Given the description of an element on the screen output the (x, y) to click on. 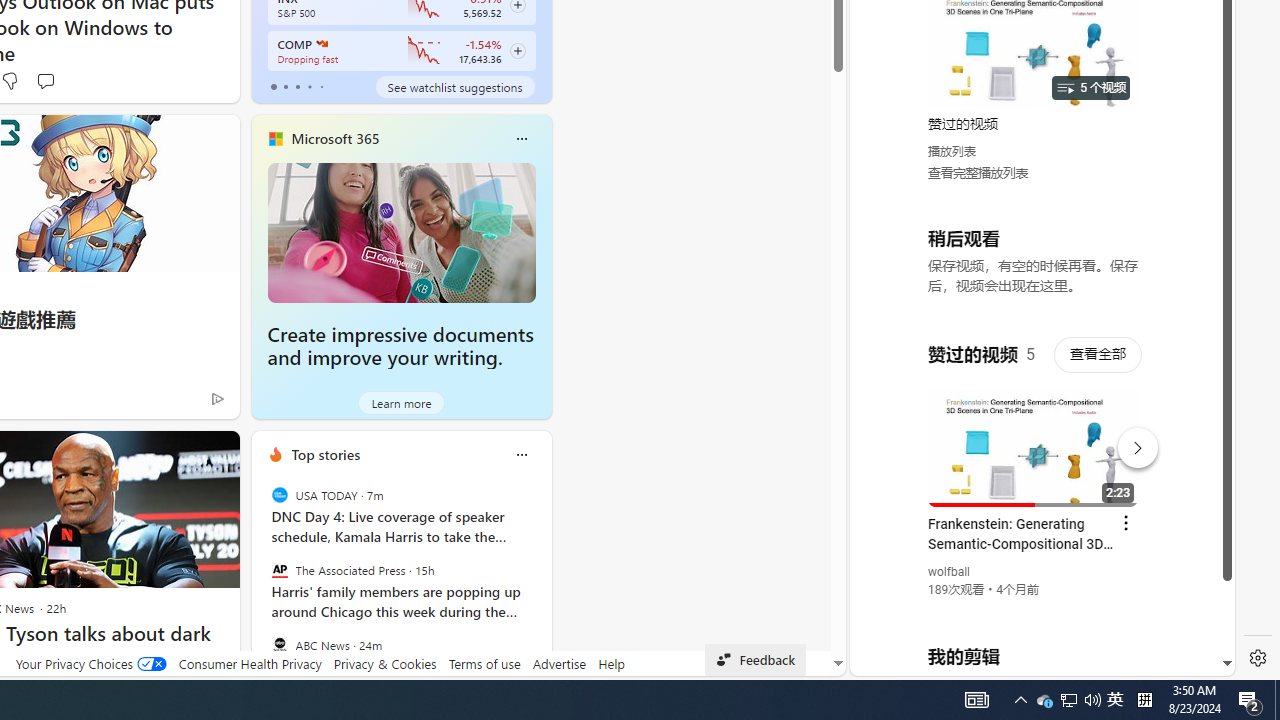
next (541, 583)
tab-2 (297, 86)
Class: dict_pnIcon rms_img (1028, 660)
ABC News (279, 644)
Hide this story (178, 454)
Click to scroll right (1196, 83)
tab-3 (309, 86)
tab-1 (285, 86)
Consumer Health Privacy (249, 663)
Actions for this site (1131, 443)
